Given the description of an element on the screen output the (x, y) to click on. 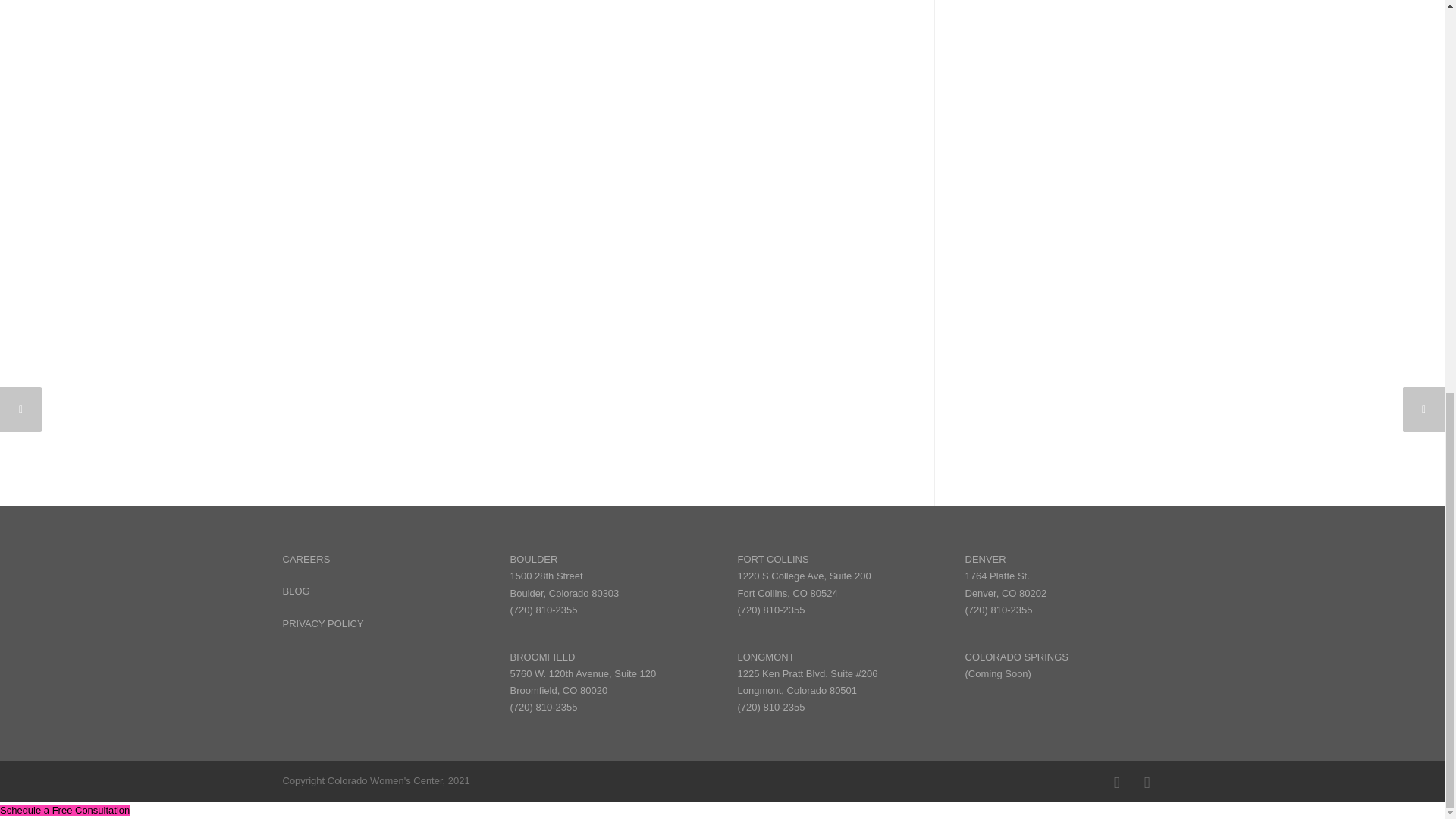
Instagram (1146, 782)
Facebook (1115, 782)
